Given the description of an element on the screen output the (x, y) to click on. 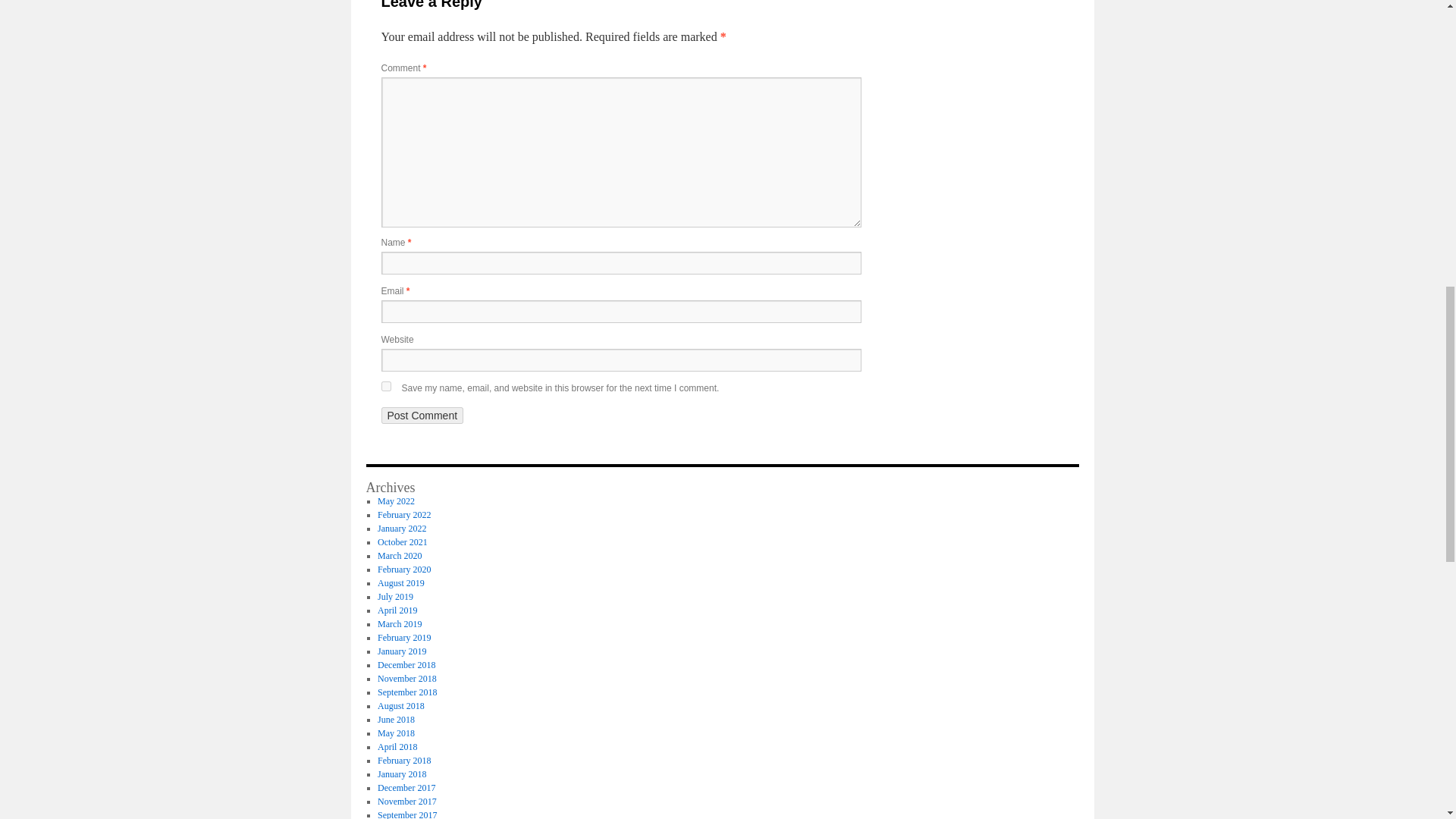
yes (385, 386)
February 2022 (403, 514)
Post Comment (421, 415)
May 2022 (395, 501)
Post Comment (421, 415)
